Given the description of an element on the screen output the (x, y) to click on. 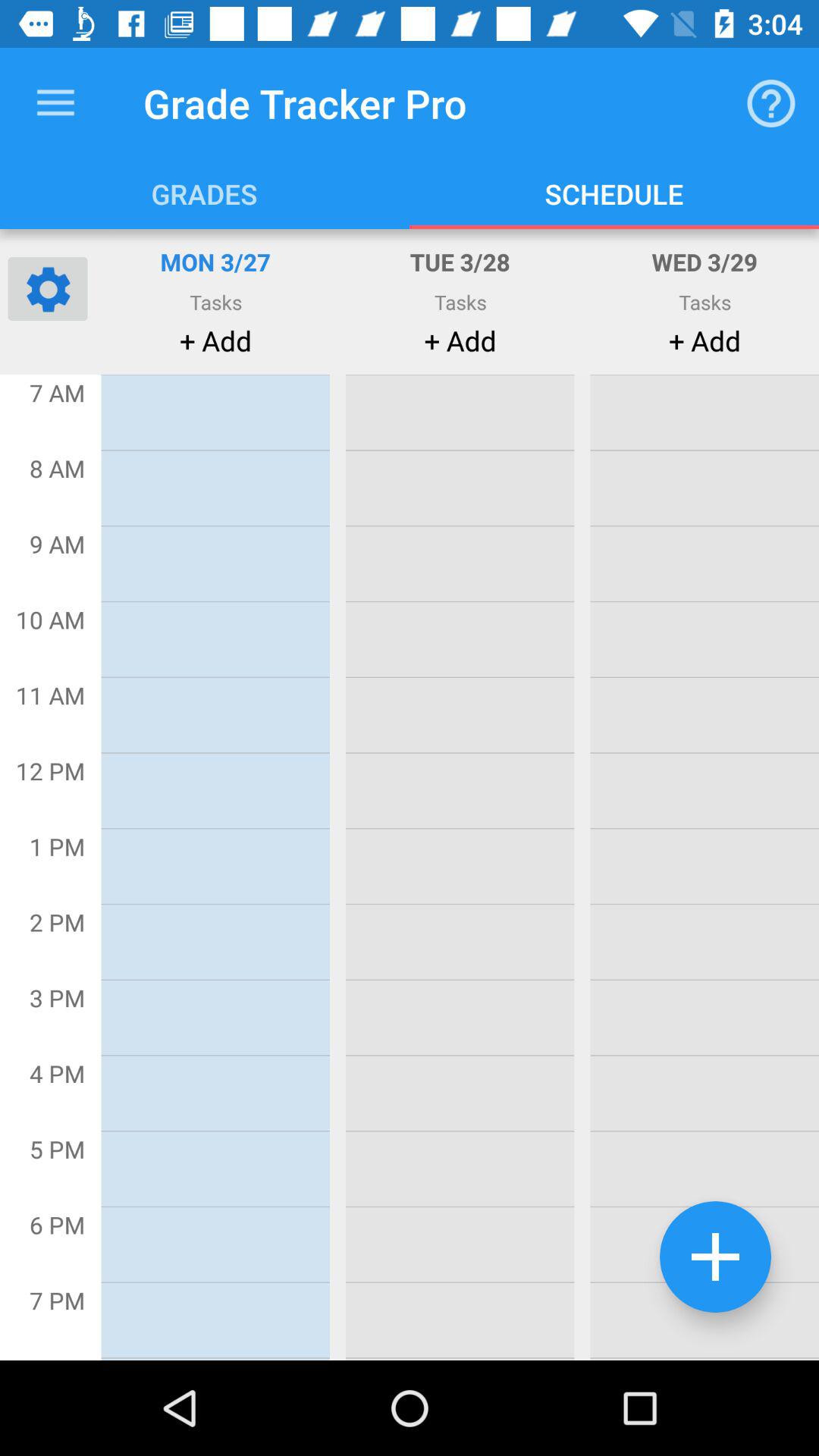
select more option (715, 1256)
